Given the description of an element on the screen output the (x, y) to click on. 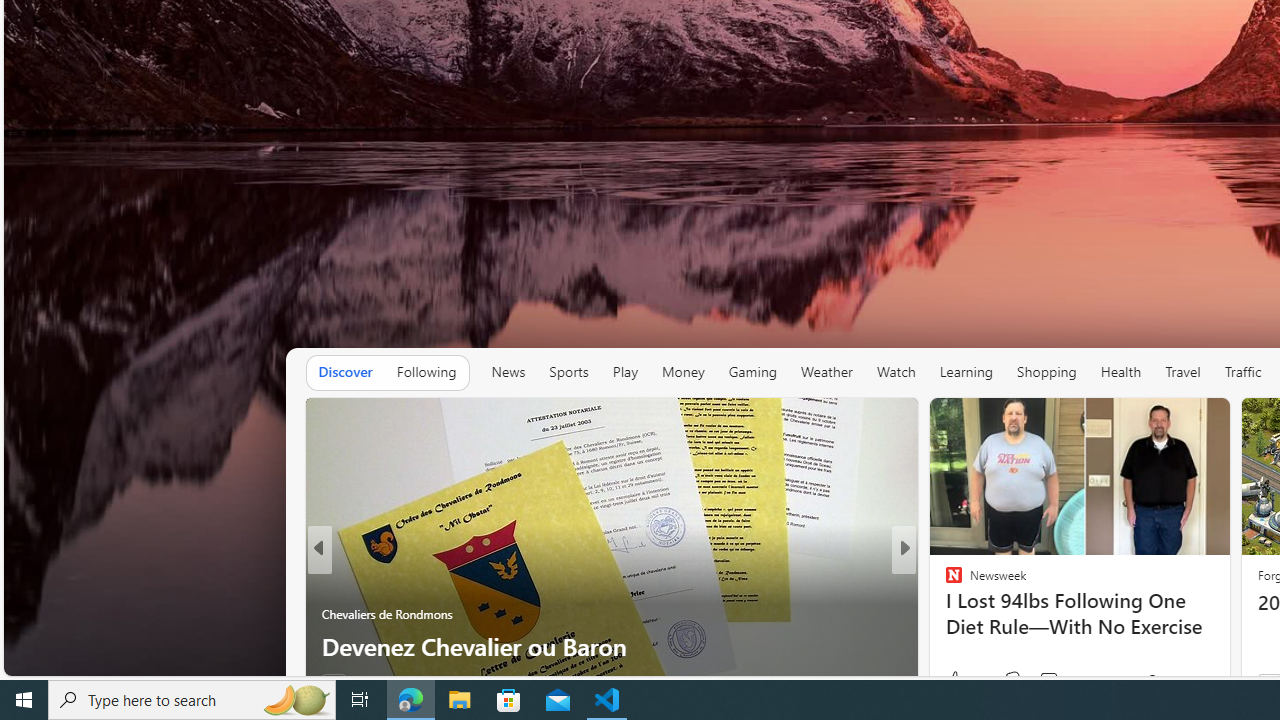
Play (625, 371)
Sports (568, 371)
Ad Choice (895, 681)
Money (682, 372)
View comments 3 Comment (1041, 681)
Health (1121, 372)
Devenez Chevalier ou Baron (611, 645)
News (507, 371)
Housely (944, 614)
Following (426, 371)
News (507, 372)
Watch (895, 371)
907 Like (964, 680)
Weather (826, 372)
